Given the description of an element on the screen output the (x, y) to click on. 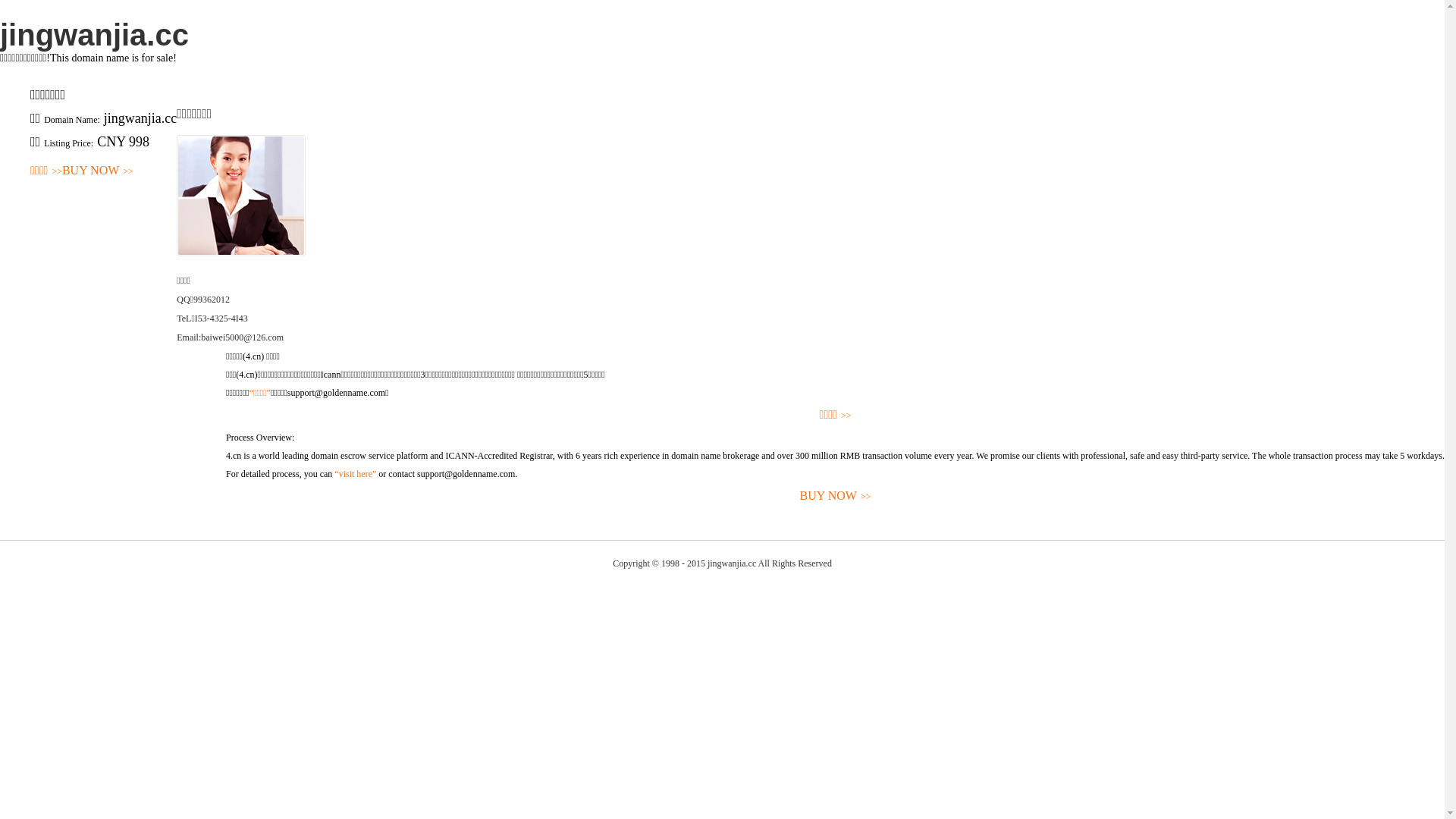
BUY NOW>> Element type: text (97, 170)
BUY NOW>> Element type: text (834, 496)
